Given the description of an element on the screen output the (x, y) to click on. 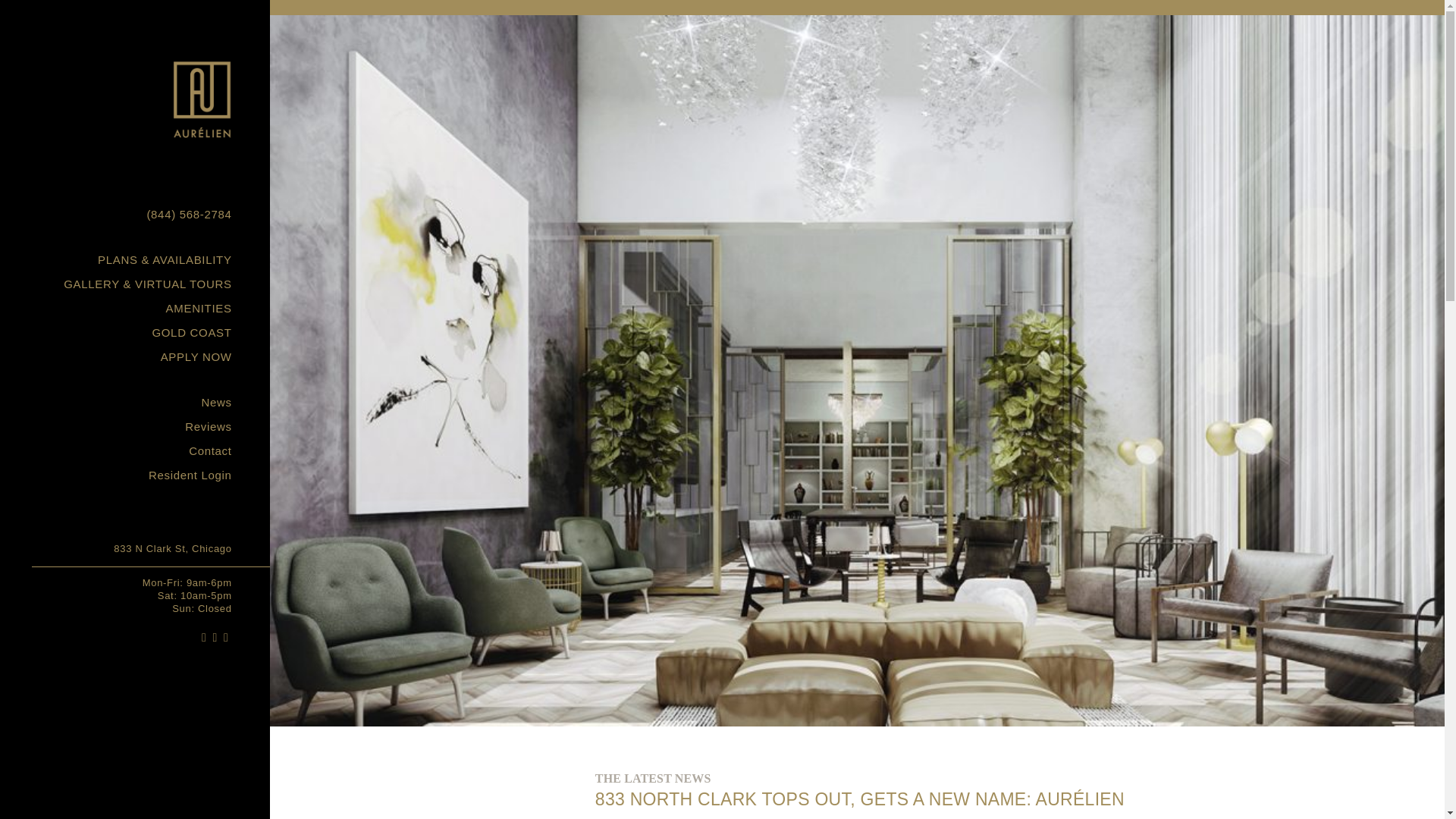
Reviews (134, 426)
833 N Clark St, Chicago (134, 548)
AMENITIES (134, 308)
News (134, 402)
GOLD COAST (134, 332)
Contact (134, 450)
APPLY NOW (134, 356)
Resident Login (134, 475)
